Given the description of an element on the screen output the (x, y) to click on. 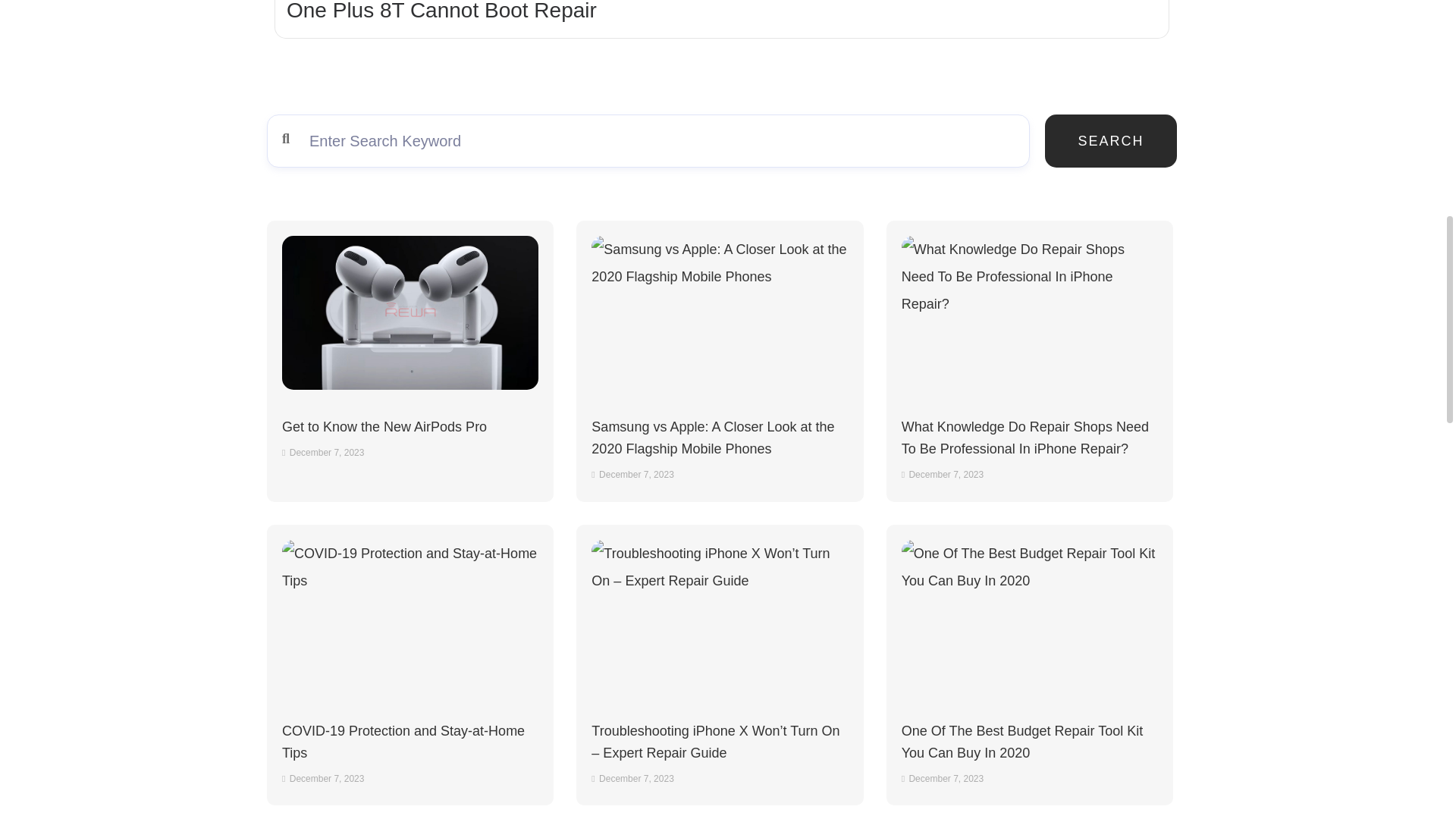
Get to Know the New AirPods Pro (384, 426)
One Plus 8T Cannot Boot Repair (441, 11)
COVID-19 Protection and Stay-at-Home Tips (410, 616)
Get to Know the New AirPods Pro (410, 312)
SEARCH (1110, 140)
One Plus 8T Cannot Boot Repair (441, 11)
